Given the description of an element on the screen output the (x, y) to click on. 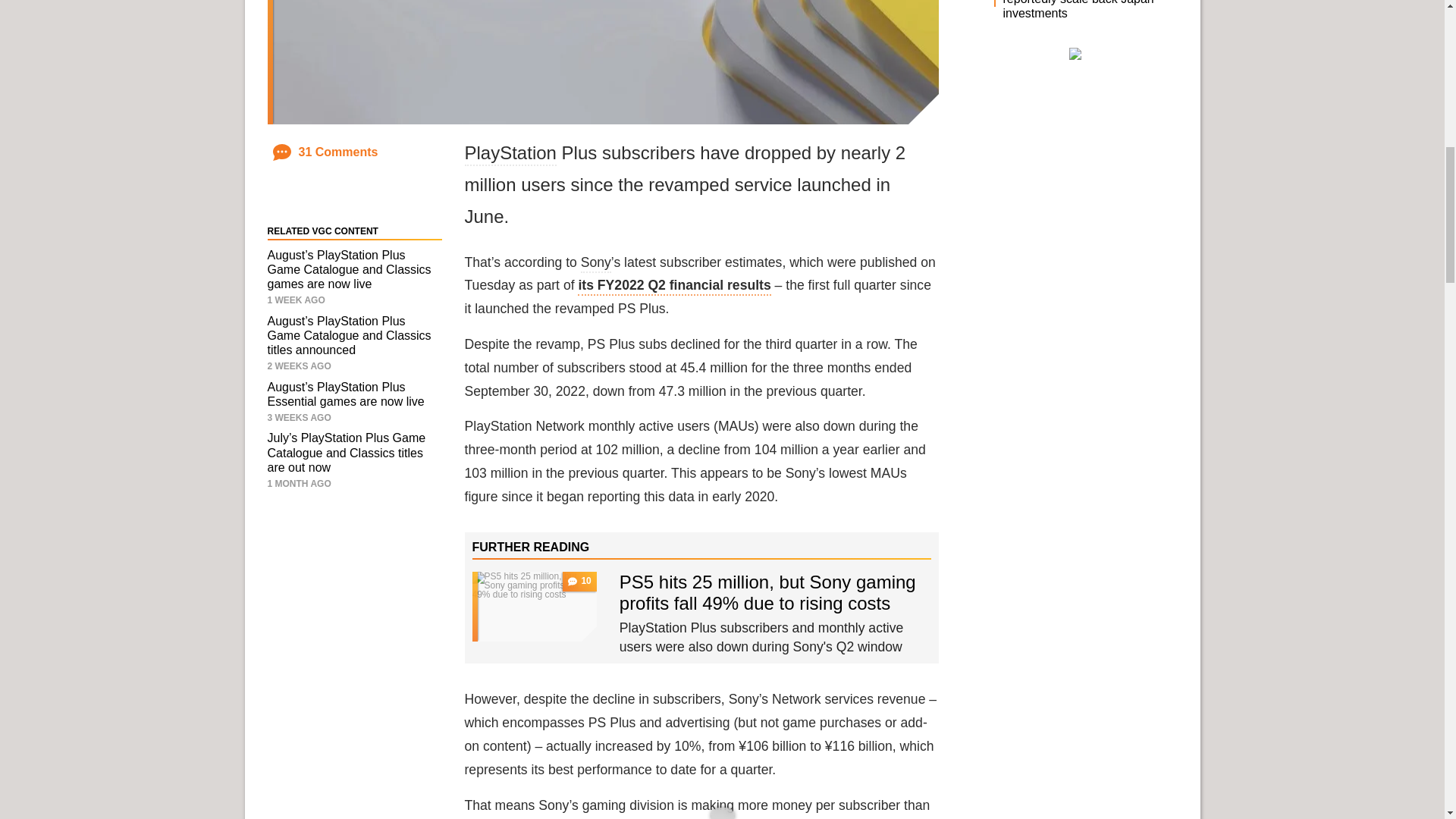
its FY2022 Q2 financial results (674, 286)
10 (533, 606)
PlayStation (510, 154)
Sony (595, 263)
10 Comments (578, 581)
